Given the description of an element on the screen output the (x, y) to click on. 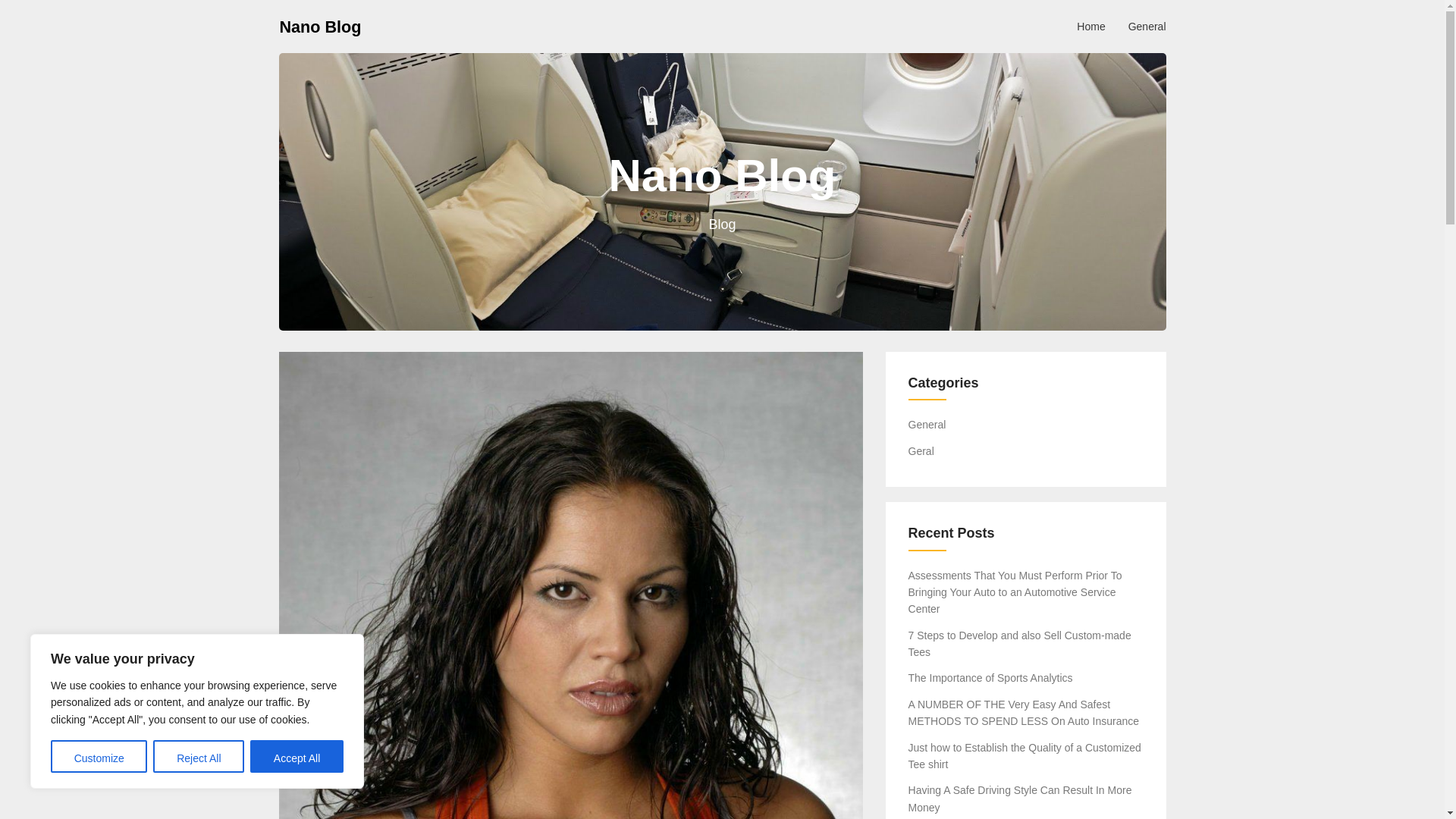
7 Steps to Develop and also Sell Custom-made Tees (1019, 643)
Geral (921, 451)
The Importance of Sports Analytics (990, 677)
Having A Safe Driving Style Can Result In More Money (1020, 798)
General (927, 424)
Just how to Establish the Quality of a Customized Tee shirt (1024, 756)
Customize (98, 756)
Reject All (198, 756)
Accept All (296, 756)
Nano Blog (320, 26)
General (1146, 26)
Home (1090, 26)
